Given the description of an element on the screen output the (x, y) to click on. 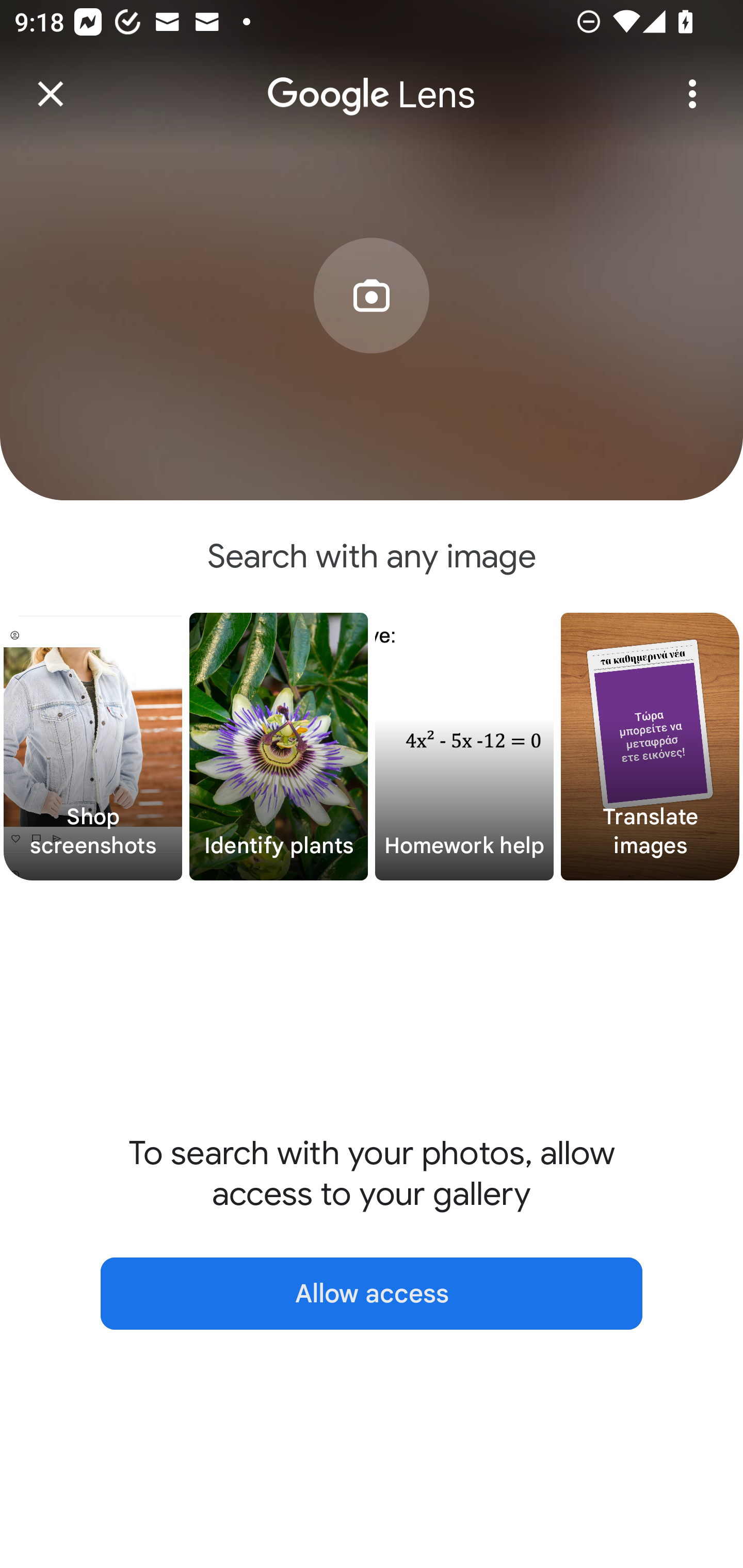
Google Lens Lens (371, 80)
Close (50, 94)
More options (692, 94)
Search with your camera (371, 326)
Shop screenshots (92, 747)
Identify plants (278, 747)
Homework help (464, 747)
Translate images (649, 747)
Allow access (371, 1293)
